Given the description of an element on the screen output the (x, y) to click on. 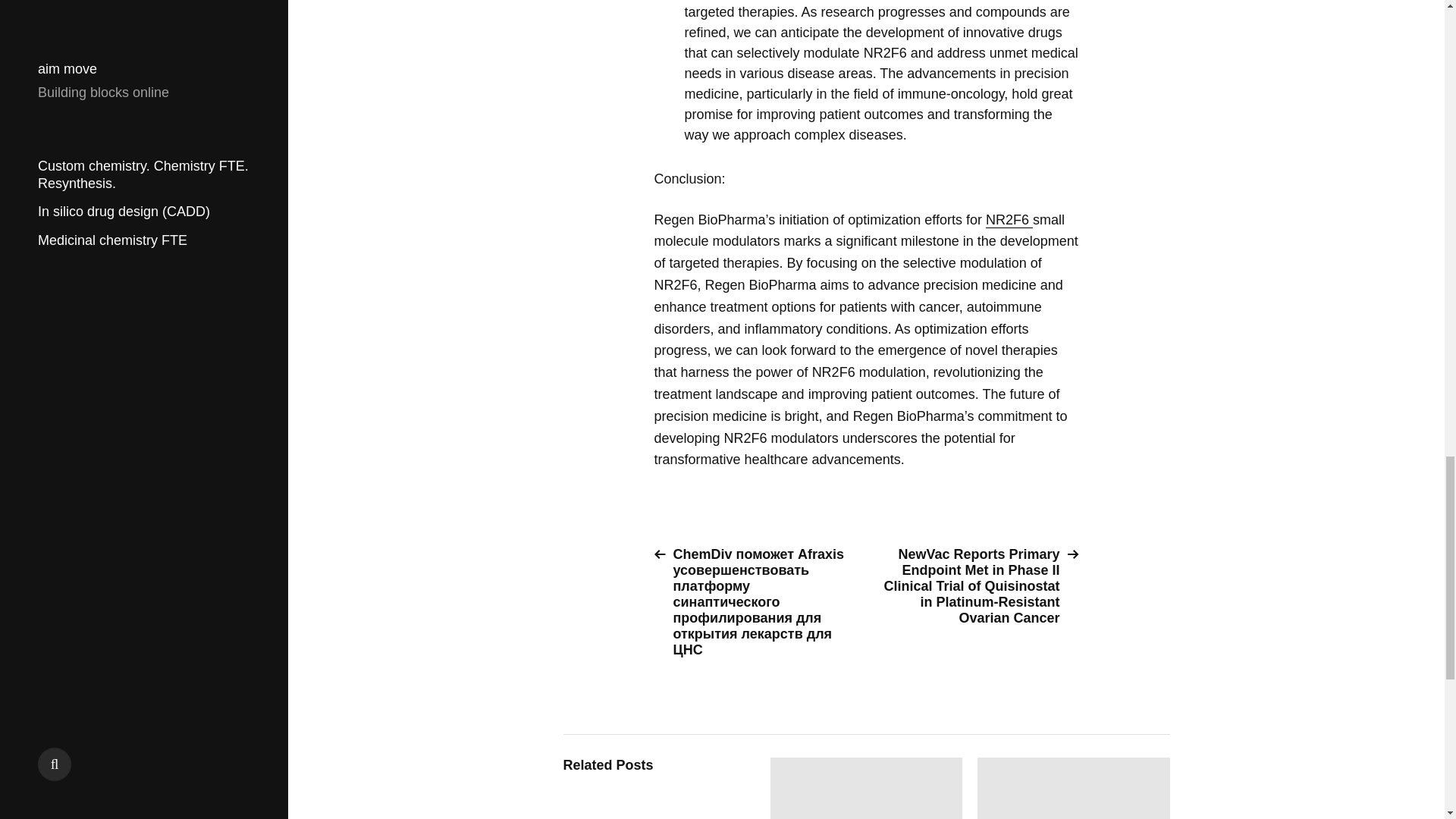
Regeneron is off to CHAPLE as FDA starts pozelimab review (1073, 788)
3D-Diversity Natural-Product-Like Library (866, 788)
NR2F6 (1008, 220)
